Given the description of an element on the screen output the (x, y) to click on. 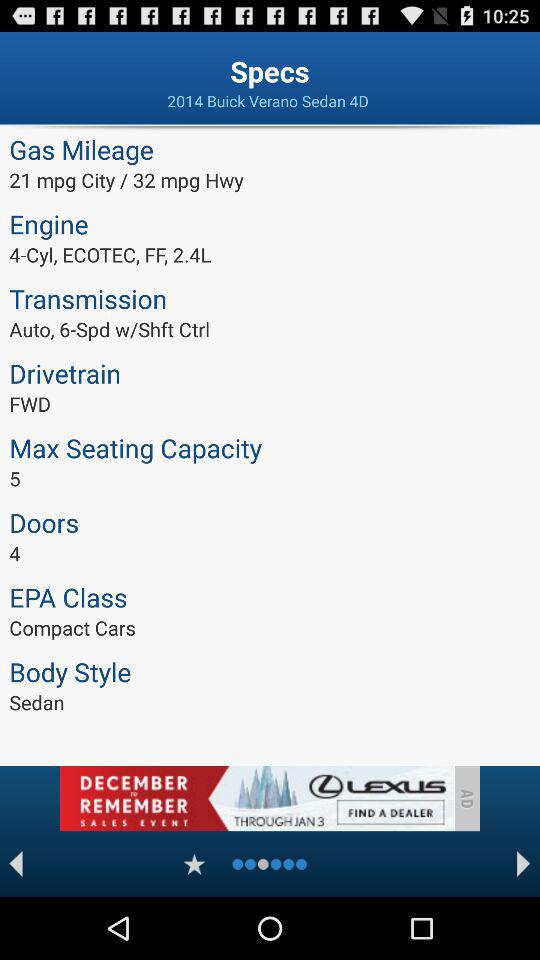
backspace option (16, 864)
